Given the description of an element on the screen output the (x, y) to click on. 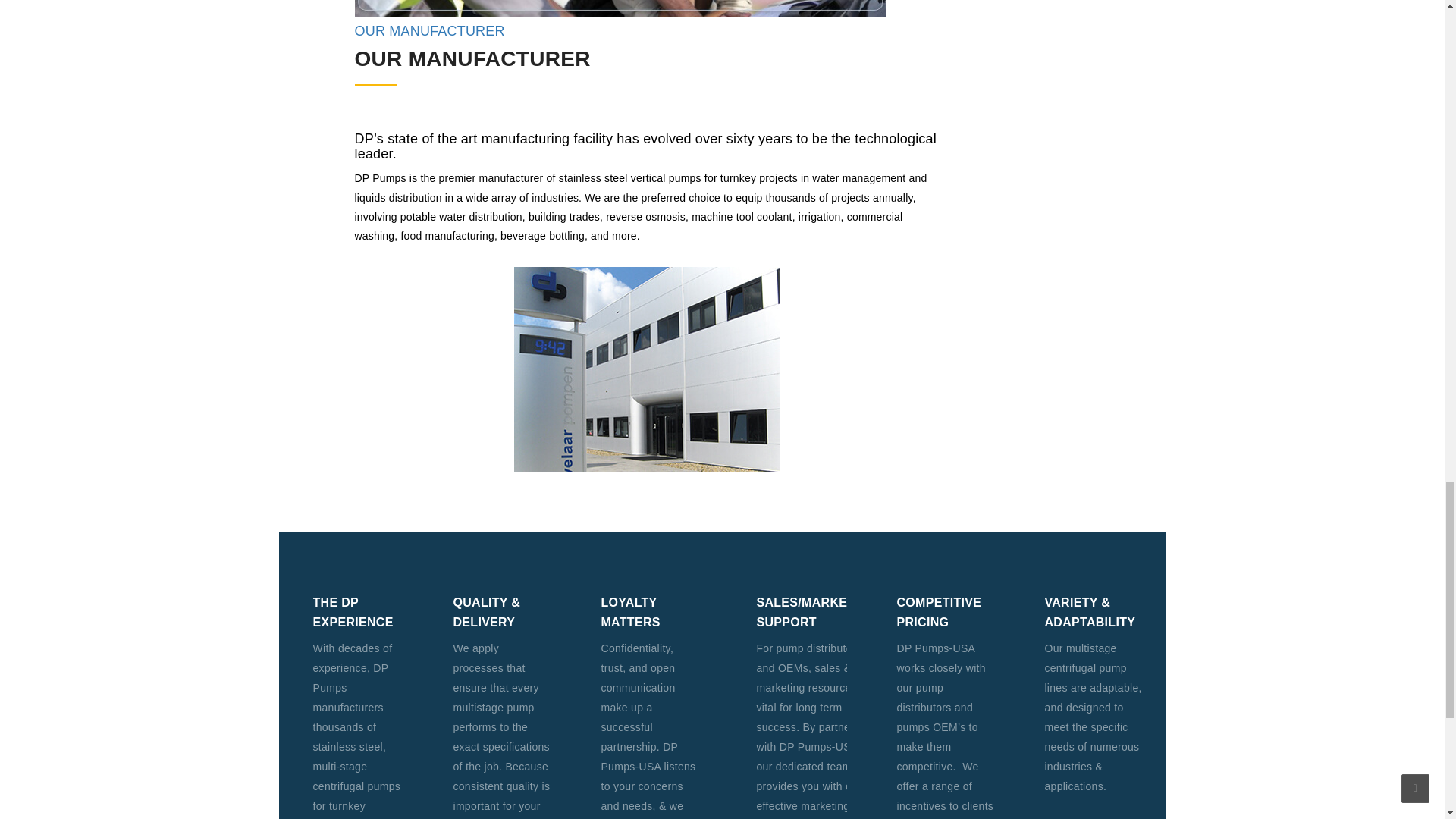
OUR MANUFACTURER (430, 30)
